Given the description of an element on the screen output the (x, y) to click on. 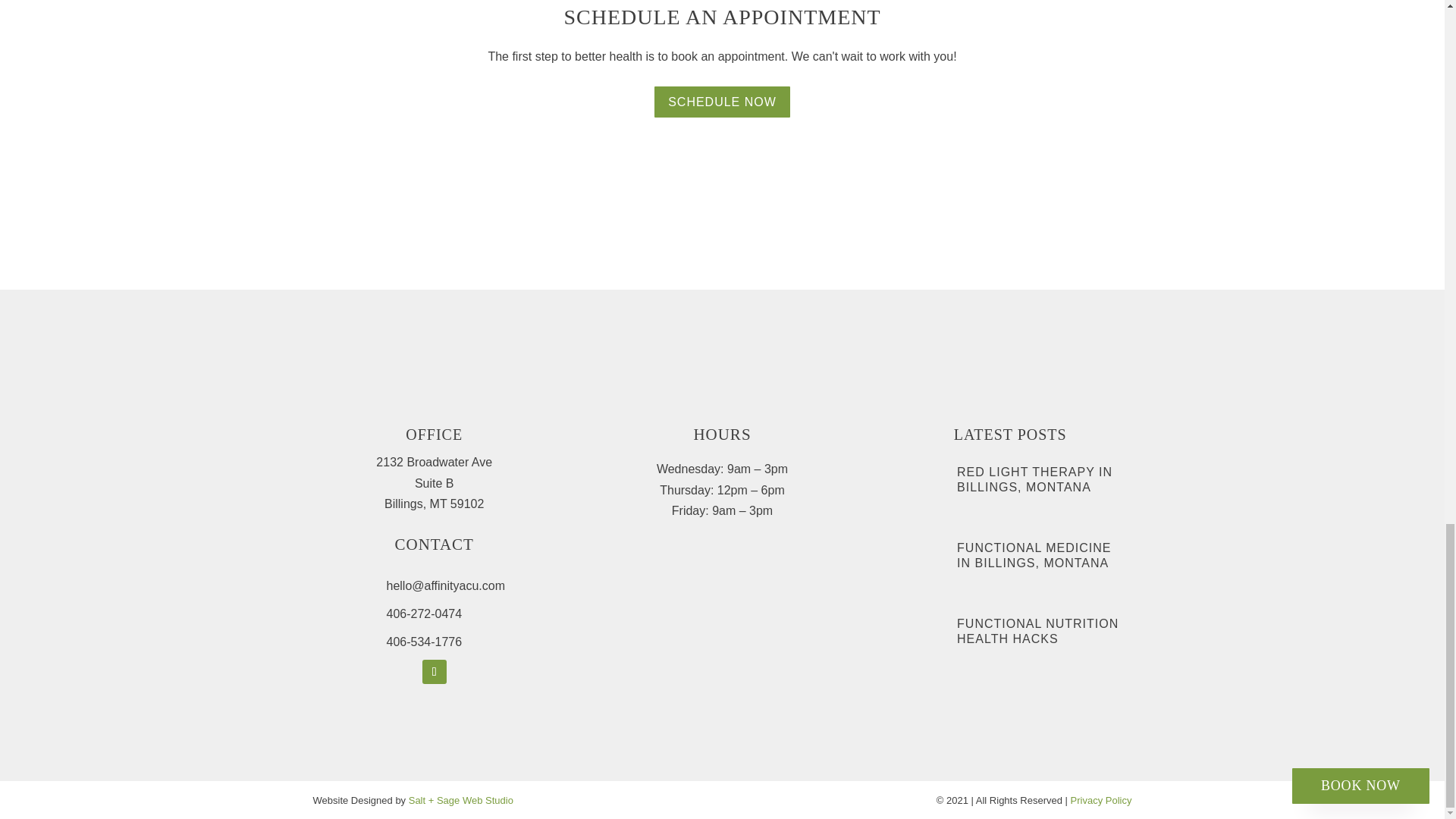
SCHEDULE NOW (721, 101)
Follow on Facebook (434, 671)
Affinity Acupuncture Logo (721, 347)
FUNCTIONAL MEDICINE IN BILLINGS, MONTANA (1033, 554)
Privacy Policy (1101, 799)
FUNCTIONAL NUTRITION HEALTH HACKS (1037, 630)
RED LIGHT THERAPY IN BILLINGS, MONTANA (1034, 479)
